Given the description of an element on the screen output the (x, y) to click on. 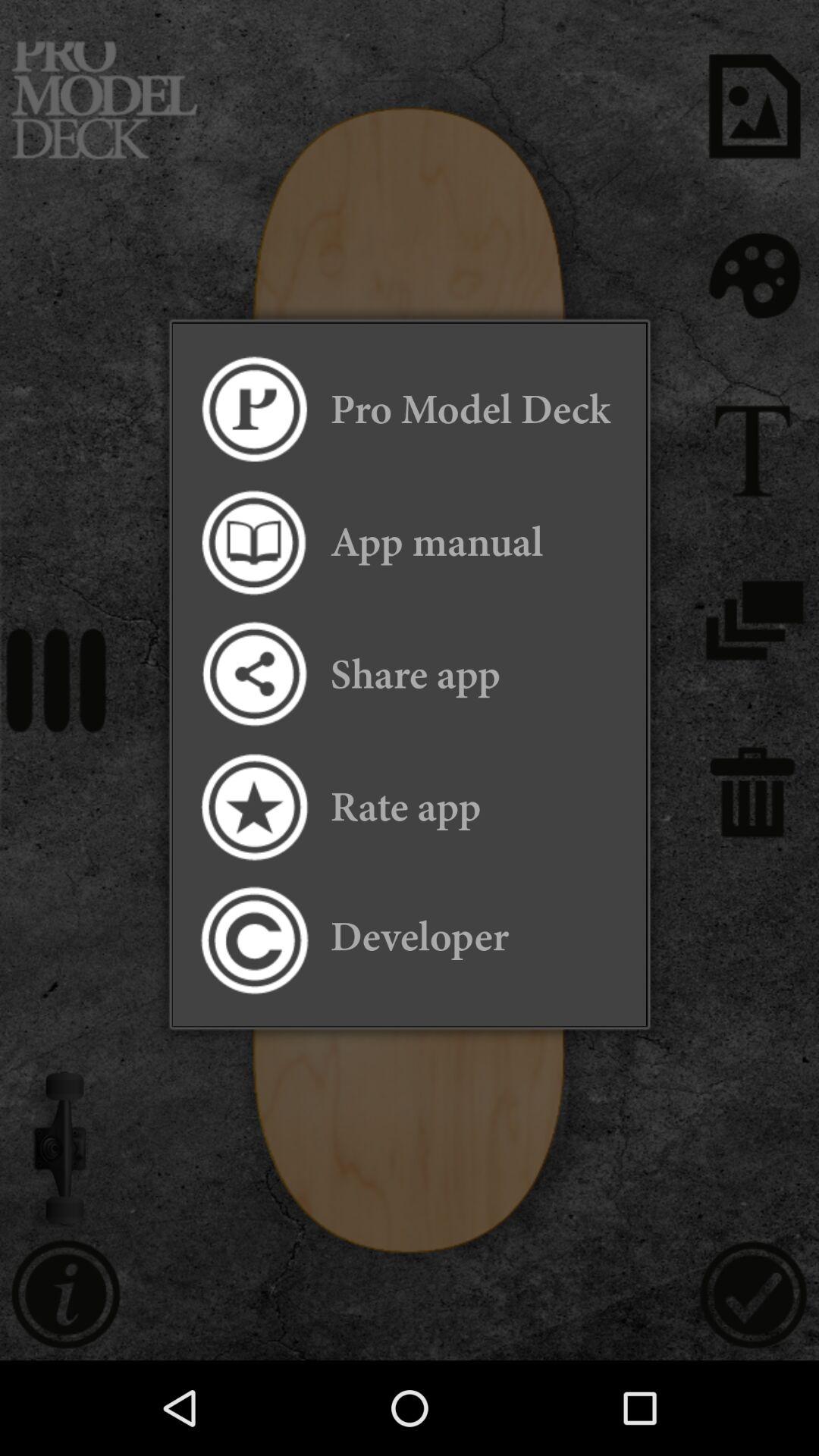
go to manual (253, 542)
